Given the description of an element on the screen output the (x, y) to click on. 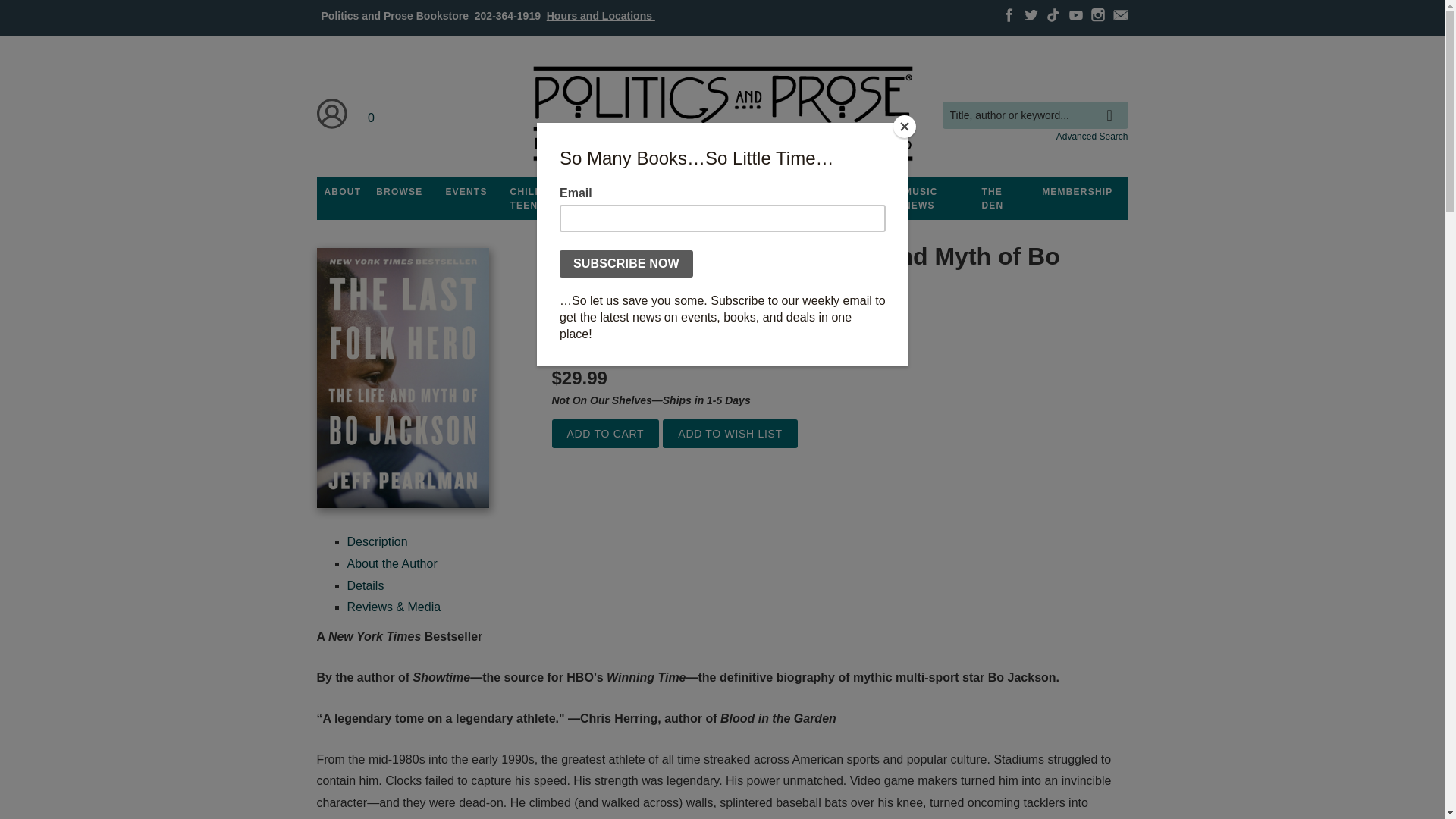
See information about our programs (633, 191)
Home (721, 114)
search (1112, 103)
ABOUT (343, 191)
Add to Cart (605, 433)
Hours and Locations  (601, 15)
Children and Teens Department (548, 198)
SERVICES (808, 191)
BROWSE (398, 191)
Browse our shelves (398, 191)
Title, author or keyword... (1034, 115)
EVENTS (465, 191)
PROGRAMS (633, 191)
Add to Wish List (729, 433)
